Given the description of an element on the screen output the (x, y) to click on. 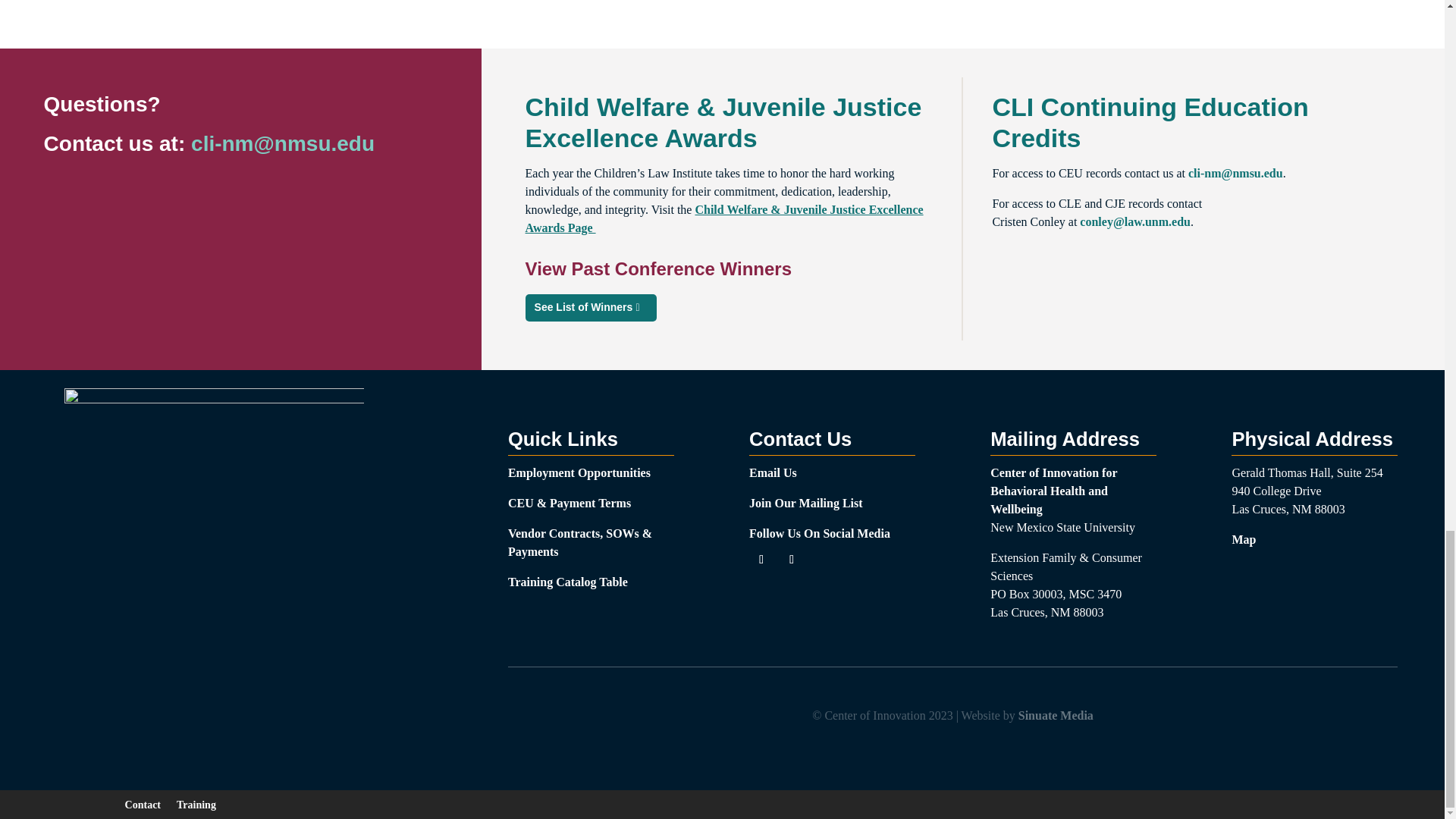
Training Catalog Table (567, 581)
Follow on Facebook (761, 559)
Join Our Mailing List (806, 502)
See List of Winners (591, 307)
Email Us (772, 472)
Follow on Instagram (790, 559)
Employment Opportunities (579, 472)
